Given the description of an element on the screen output the (x, y) to click on. 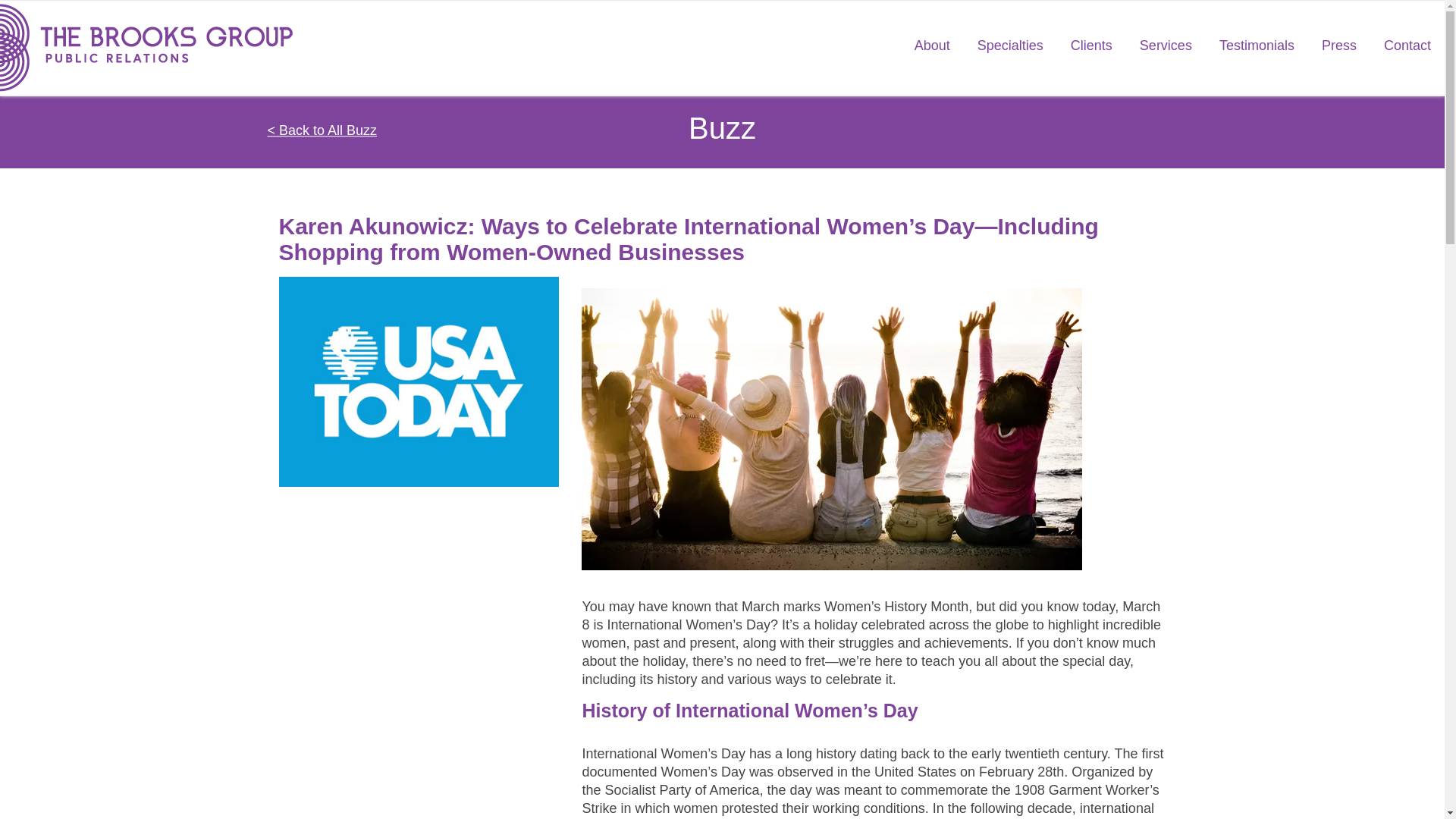
Specialties (1010, 46)
Testimonials (1256, 46)
